Given the description of an element on the screen output the (x, y) to click on. 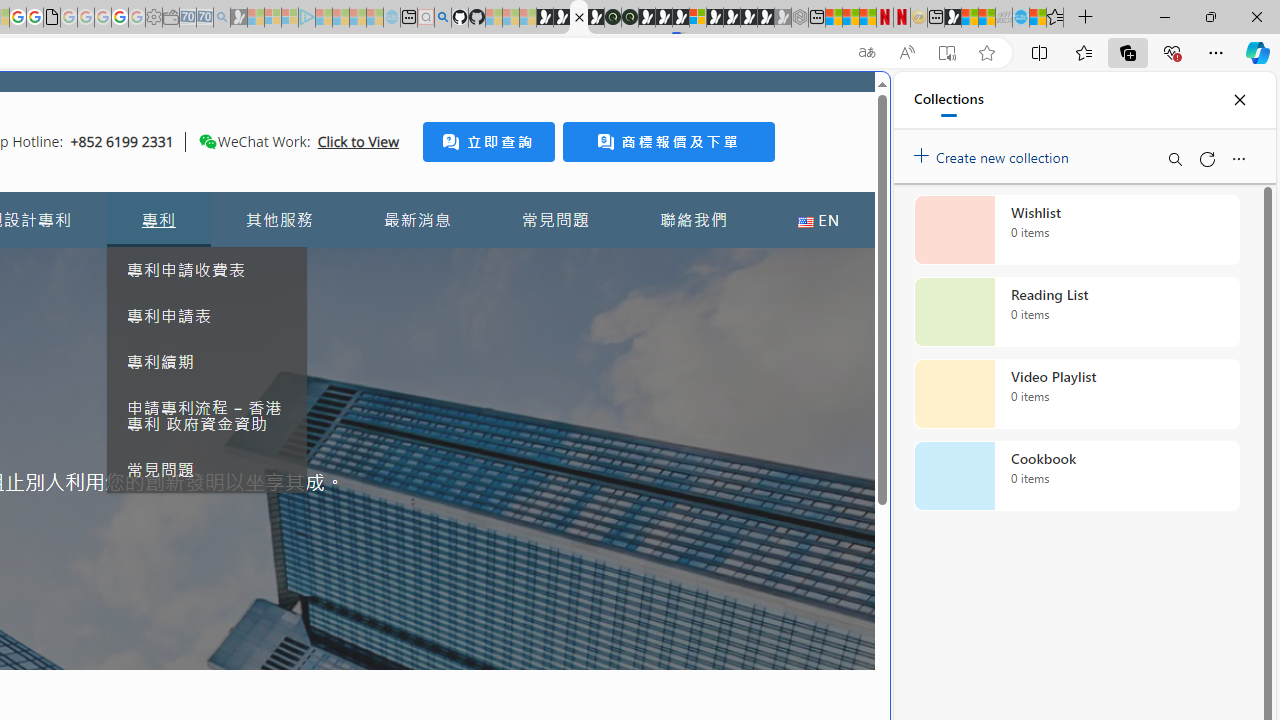
Cookbook collection, 0 items (1076, 475)
Wishlist collection, 0 items (1076, 229)
